Given the description of an element on the screen output the (x, y) to click on. 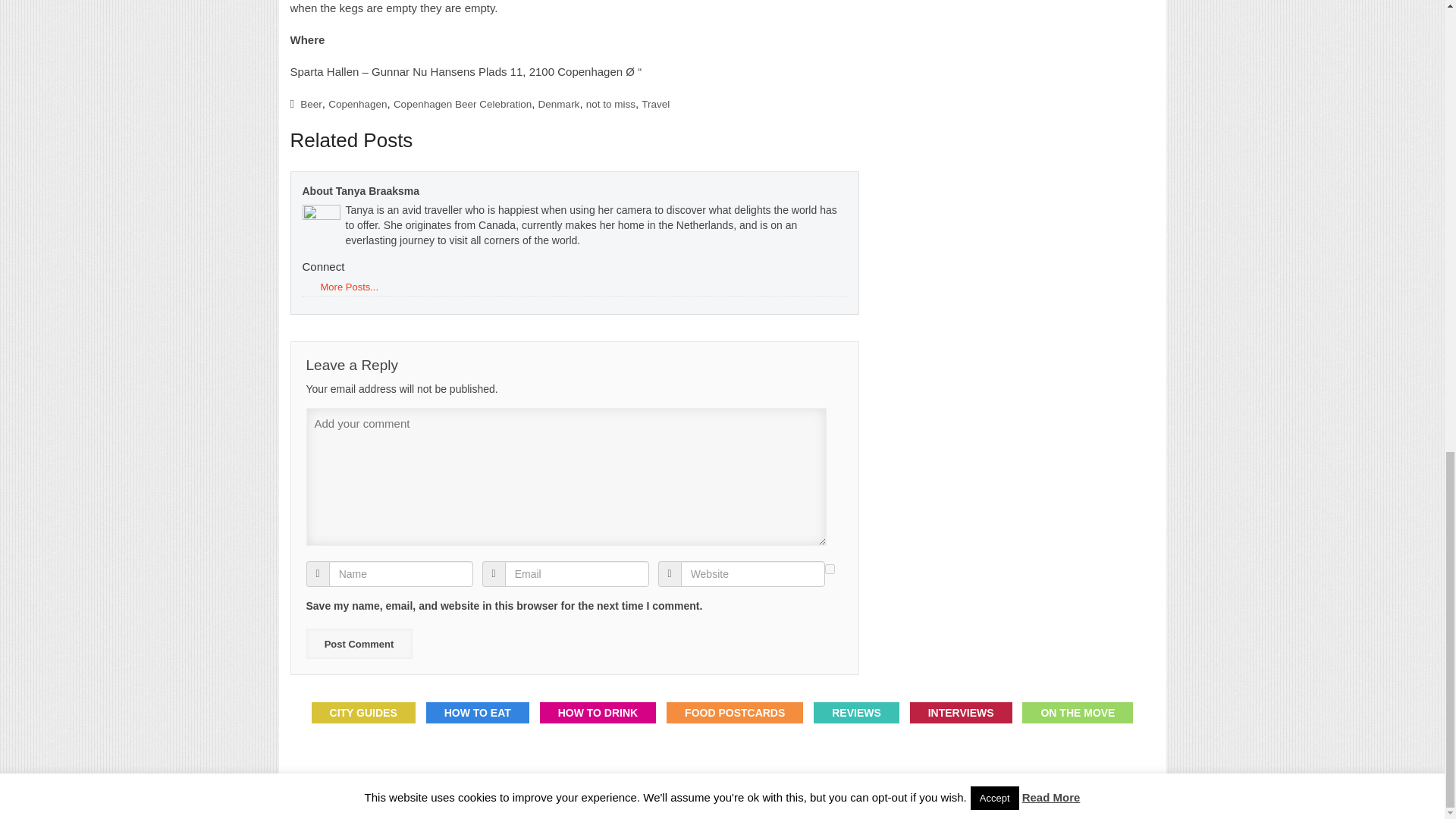
Post Comment (358, 643)
yes (829, 569)
